Given the description of an element on the screen output the (x, y) to click on. 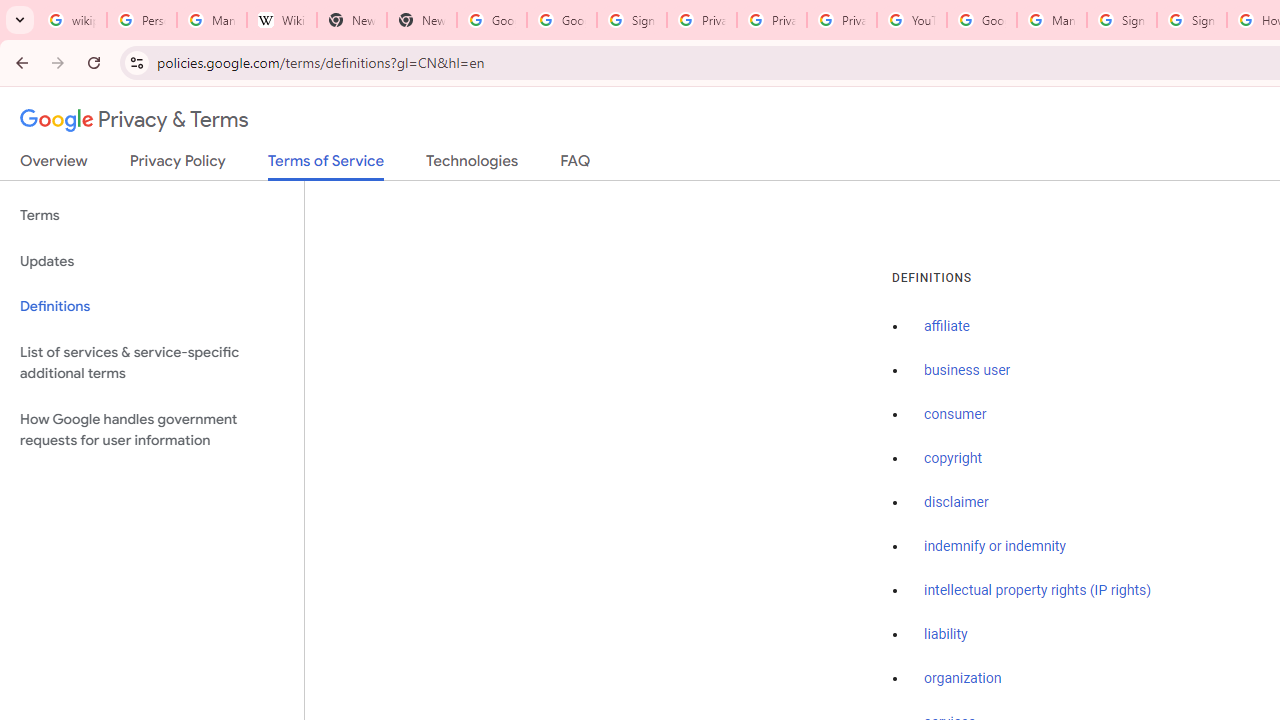
copyright (952, 459)
consumer (955, 415)
Google Account Help (982, 20)
How Google handles government requests for user information (152, 429)
business user (967, 371)
